Given the description of an element on the screen output the (x, y) to click on. 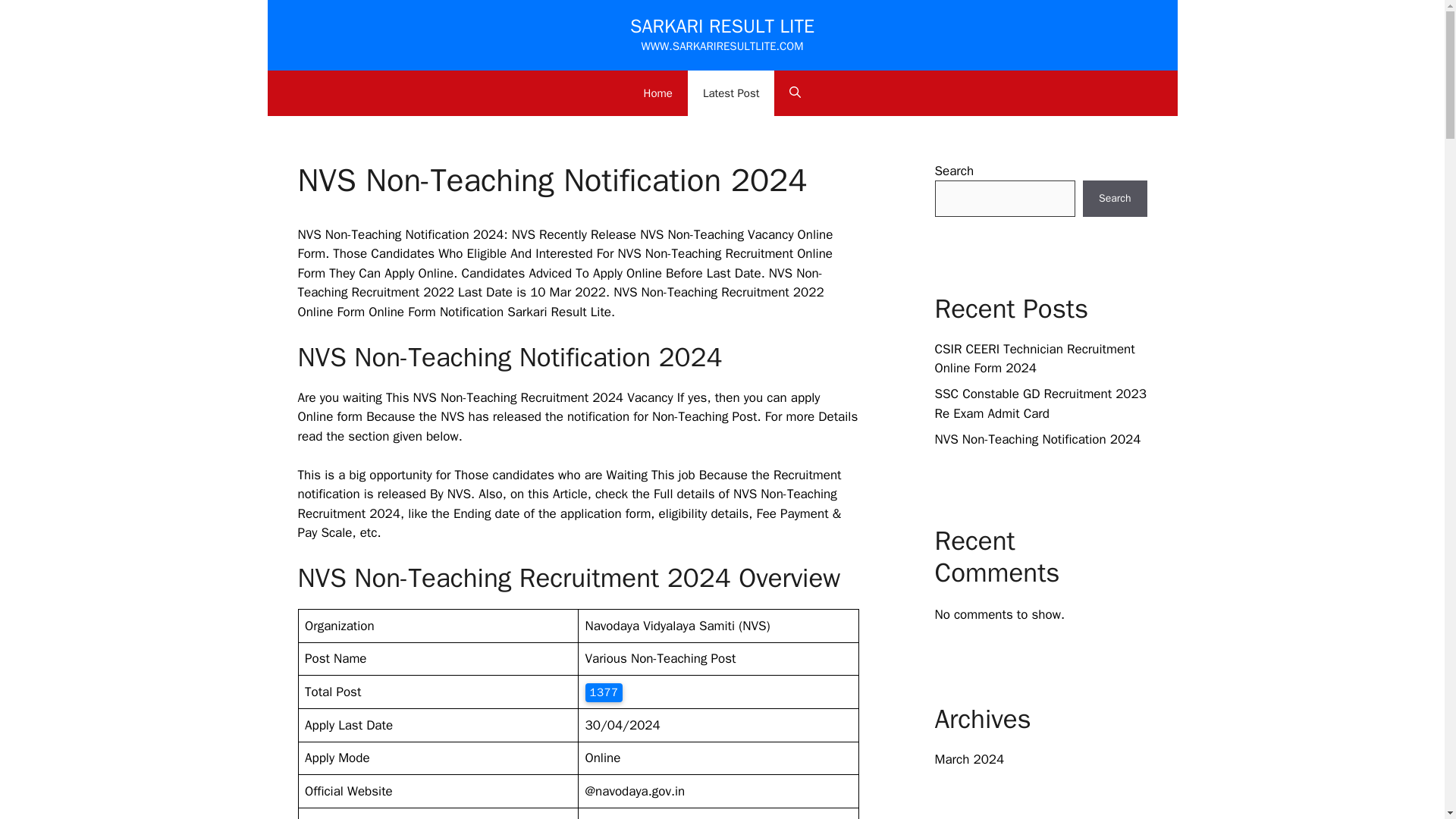
SARKARI RESULT LITE (721, 25)
SSC Constable GD Recruitment 2023 Re Exam Admit Card (1039, 403)
Search (1115, 198)
CSIR CEERI Technician Recruitment Online Form 2024 (1034, 358)
NVS Non-Teaching Notification 2024 (1037, 438)
Home (657, 92)
Telegram Group (629, 817)
March 2024 (969, 759)
Latest Post (730, 92)
